Given the description of an element on the screen output the (x, y) to click on. 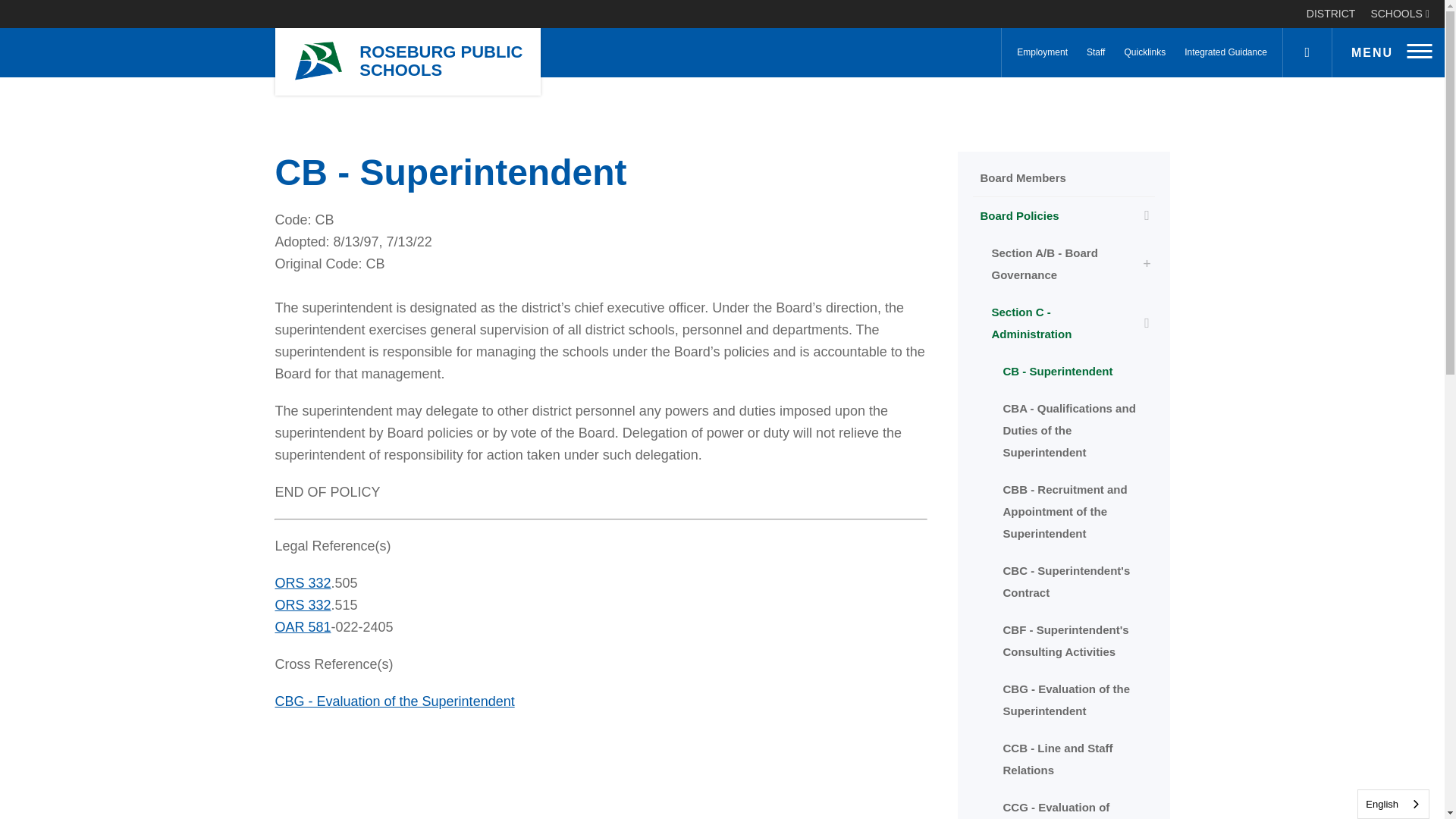
Roseburg Public School (317, 61)
CBG - Evaluation of the Superintendent (394, 701)
